Given the description of an element on the screen output the (x, y) to click on. 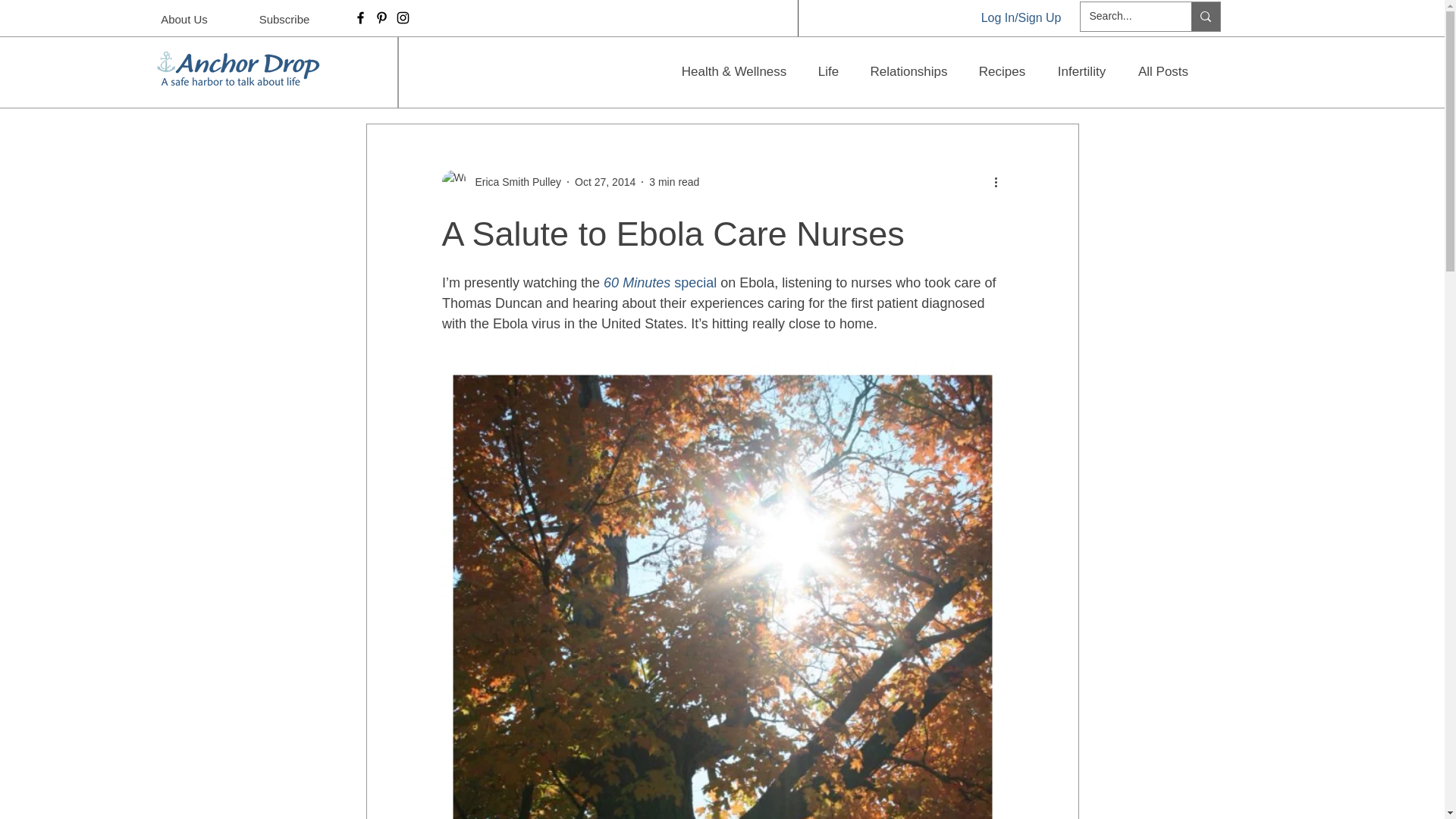
 special (692, 282)
Infertility (1081, 71)
Erica Smith Pulley (500, 181)
Oct 27, 2014 (604, 182)
Subscribe (284, 19)
Erica Smith Pulley (512, 182)
60 Minutes (636, 282)
Anchor Drop Home (234, 67)
About Us (183, 19)
3 min read (673, 182)
Relationships (907, 71)
All Posts (1163, 71)
Recipes (1001, 71)
Life (828, 71)
